Given the description of an element on the screen output the (x, y) to click on. 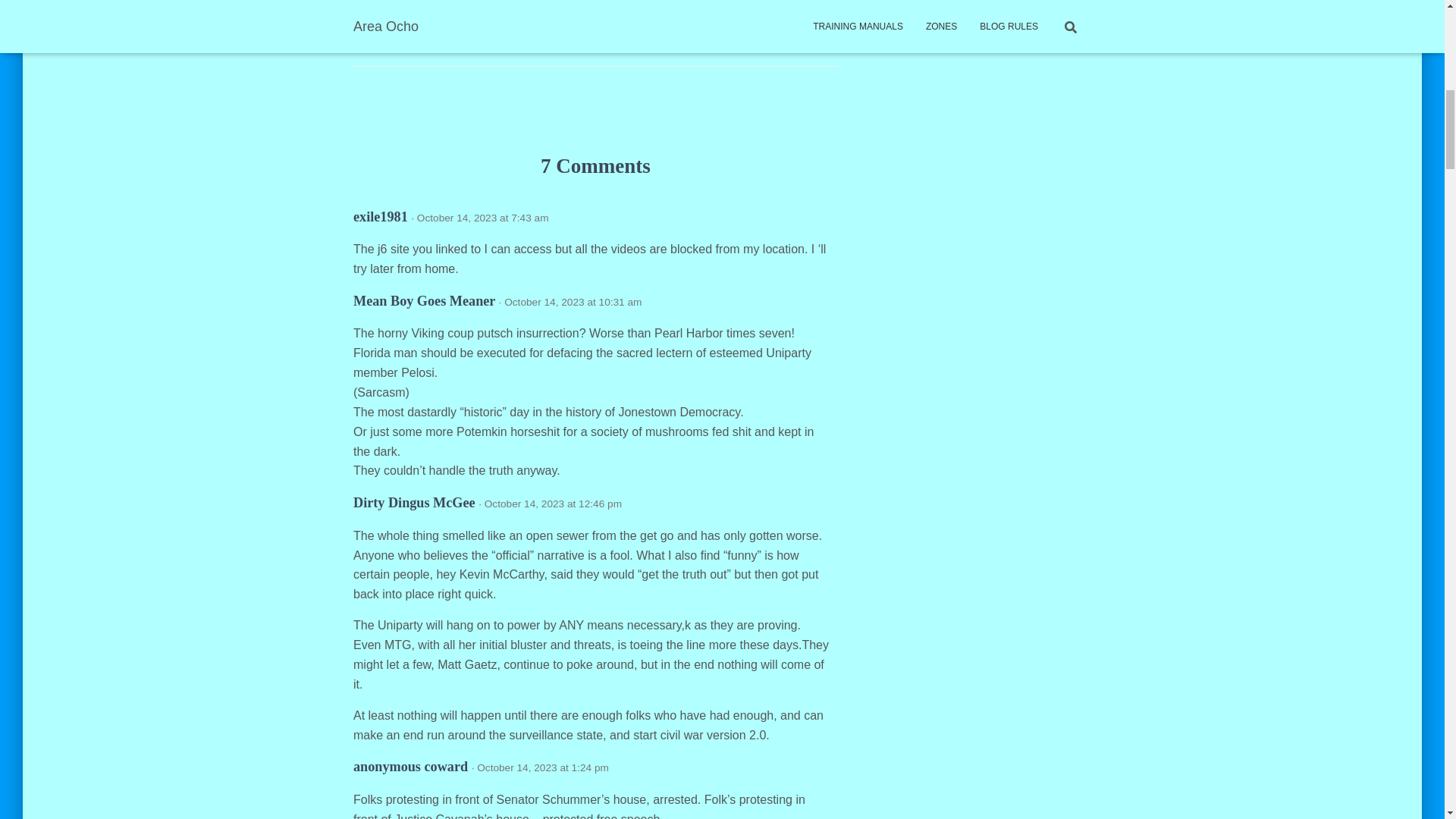
WAR ON THE RIGHT (502, 37)
